Given the description of an element on the screen output the (x, y) to click on. 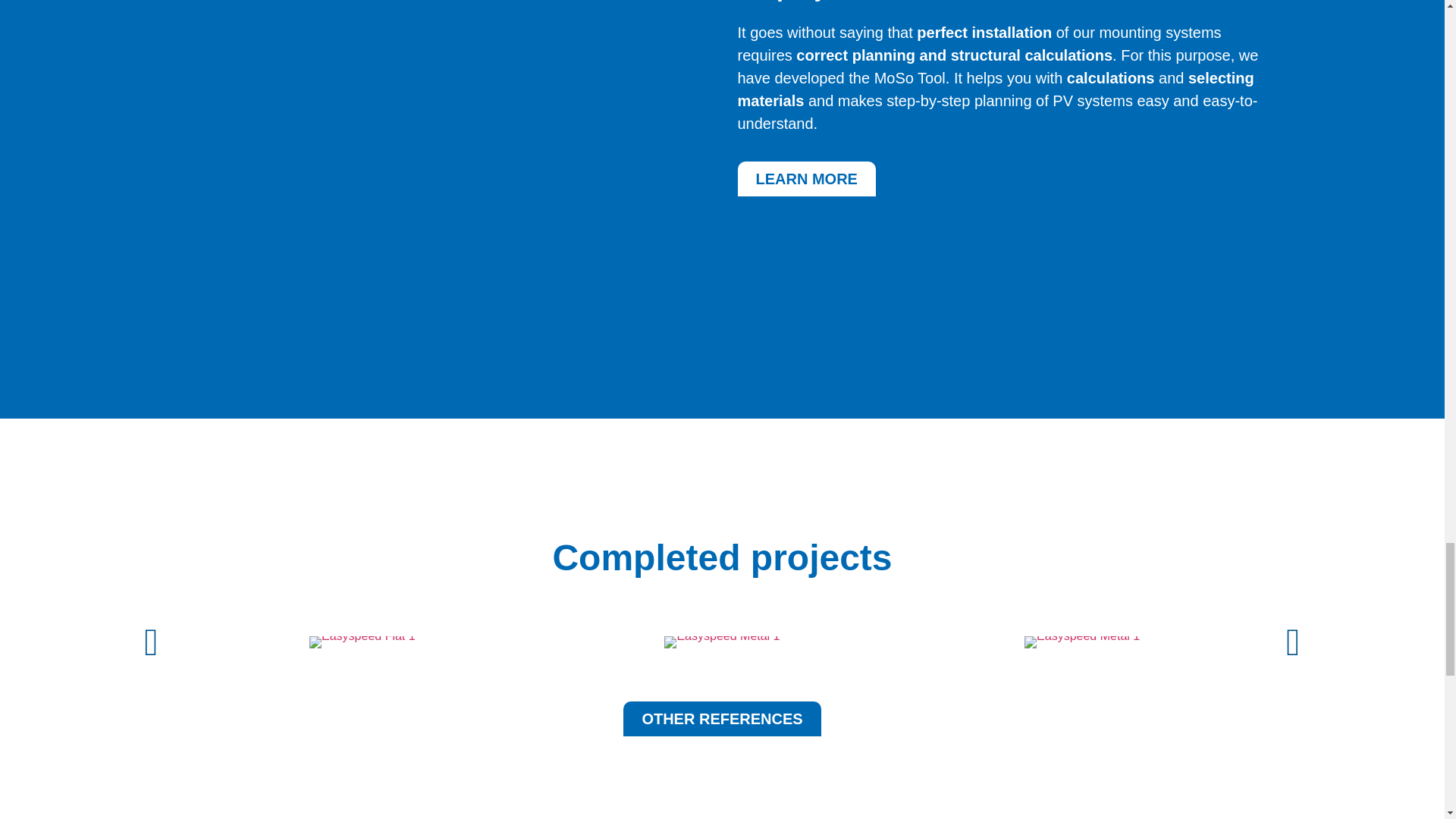
OTHER REFERENCES (722, 718)
LEARN MORE (805, 178)
